Given the description of an element on the screen output the (x, y) to click on. 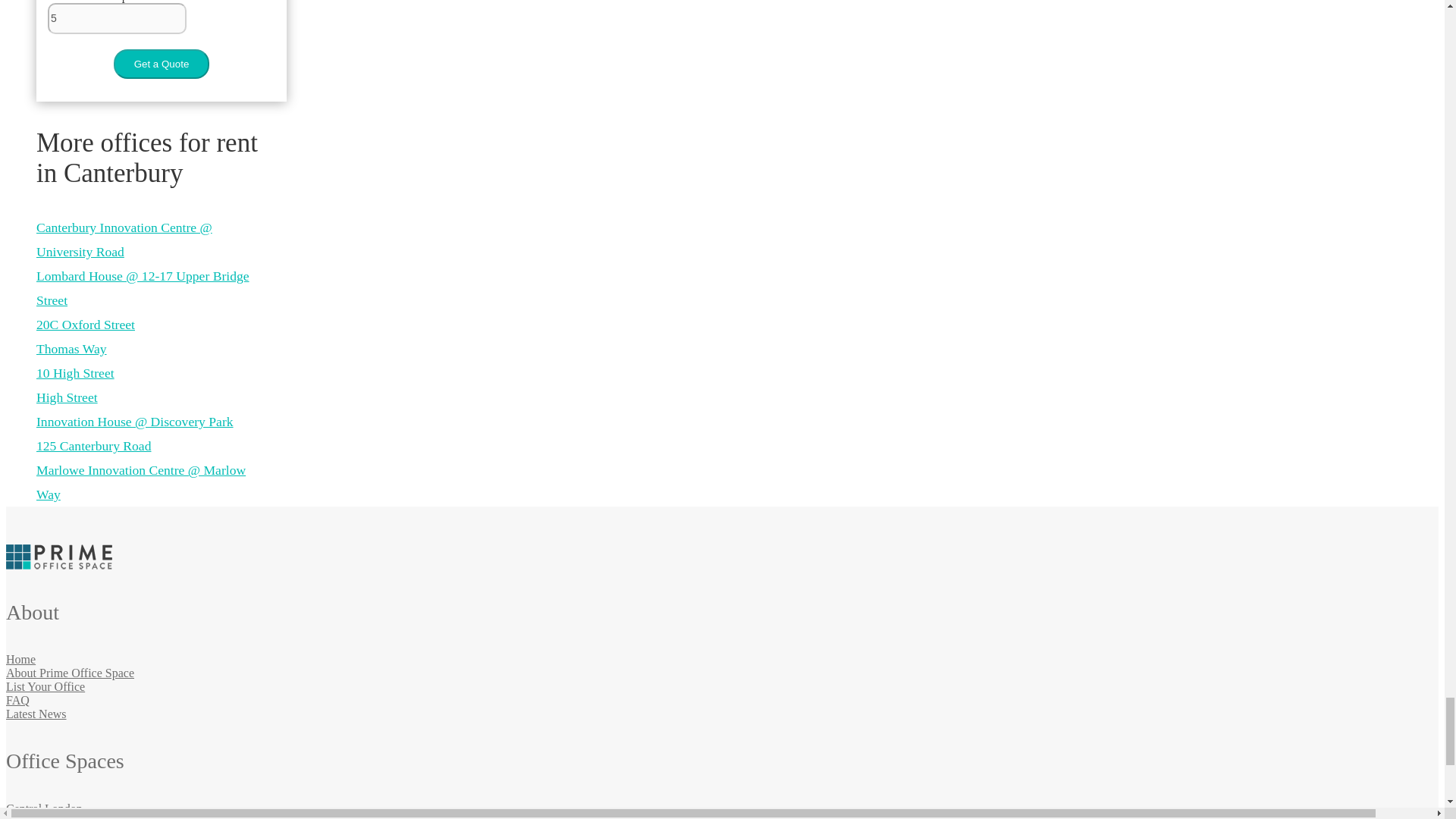
125 Canterbury Road (93, 445)
20C Oxford Street (85, 324)
High Street (66, 396)
About Prime Office Space (69, 672)
10 High Street (75, 372)
Get a Quote (161, 63)
List Your Office (44, 686)
Home (19, 658)
5 (117, 18)
Thomas Way (71, 348)
